Given the description of an element on the screen output the (x, y) to click on. 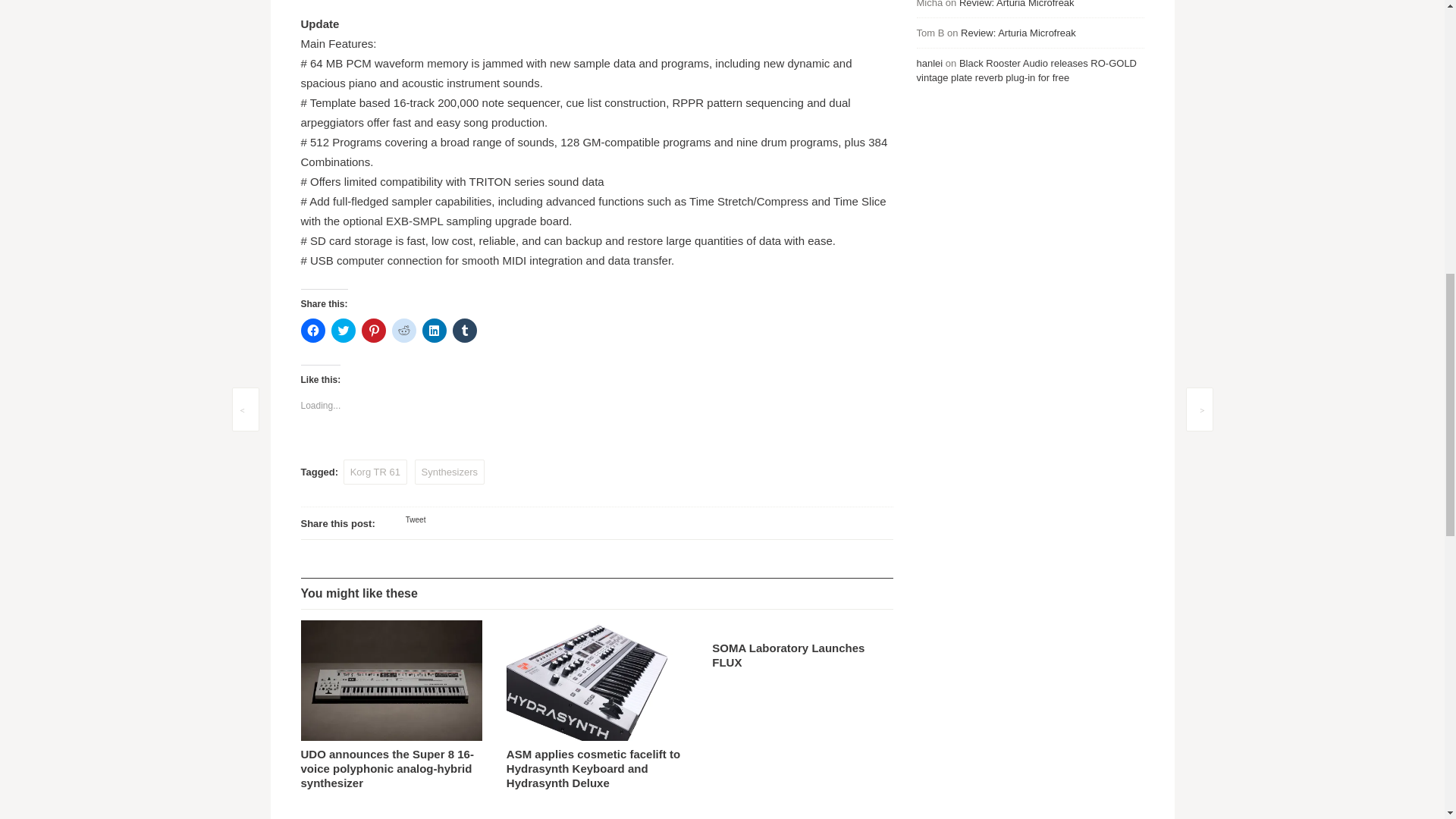
Click to share on Tumblr (463, 330)
Click to share on Pinterest (373, 330)
Click to share on Twitter (342, 330)
Click to share on Reddit (402, 330)
Click to share on LinkedIn (433, 330)
Synthesizers (449, 471)
Tweet (416, 519)
Korg TR 61 (375, 471)
Click to share on Facebook (311, 330)
